Given the description of an element on the screen output the (x, y) to click on. 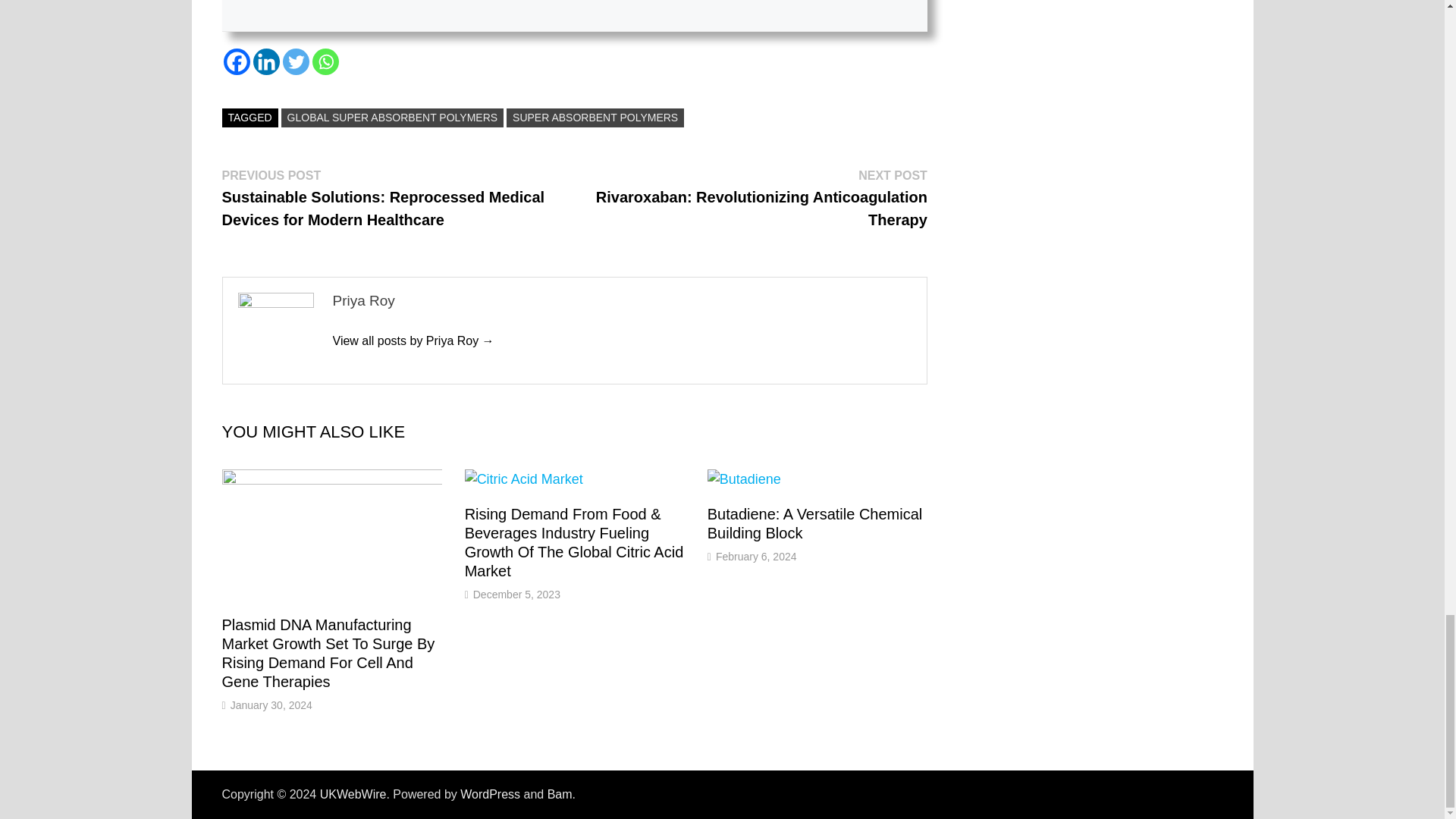
Butadiene: A Versatile Chemical Building Block (815, 523)
Priya Roy (412, 340)
Linkedin (266, 61)
UKWebWire (353, 793)
Twitter (295, 61)
Whatsapp (326, 61)
Facebook (235, 61)
